Given the description of an element on the screen output the (x, y) to click on. 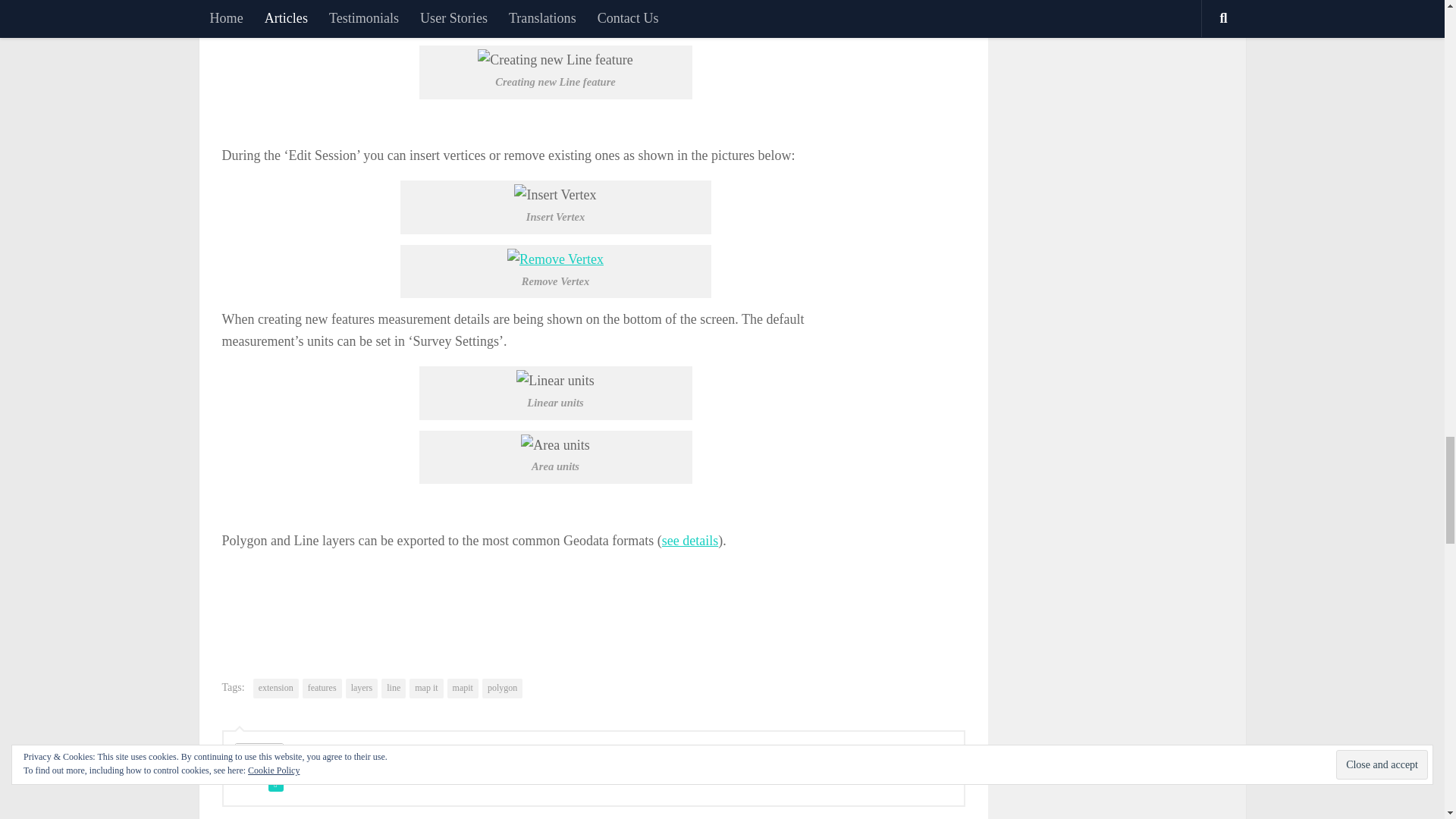
layers (362, 688)
polygon (501, 688)
extension (275, 688)
see details (689, 540)
map it (425, 688)
line (393, 688)
features (322, 688)
mapit (462, 688)
